Given the description of an element on the screen output the (x, y) to click on. 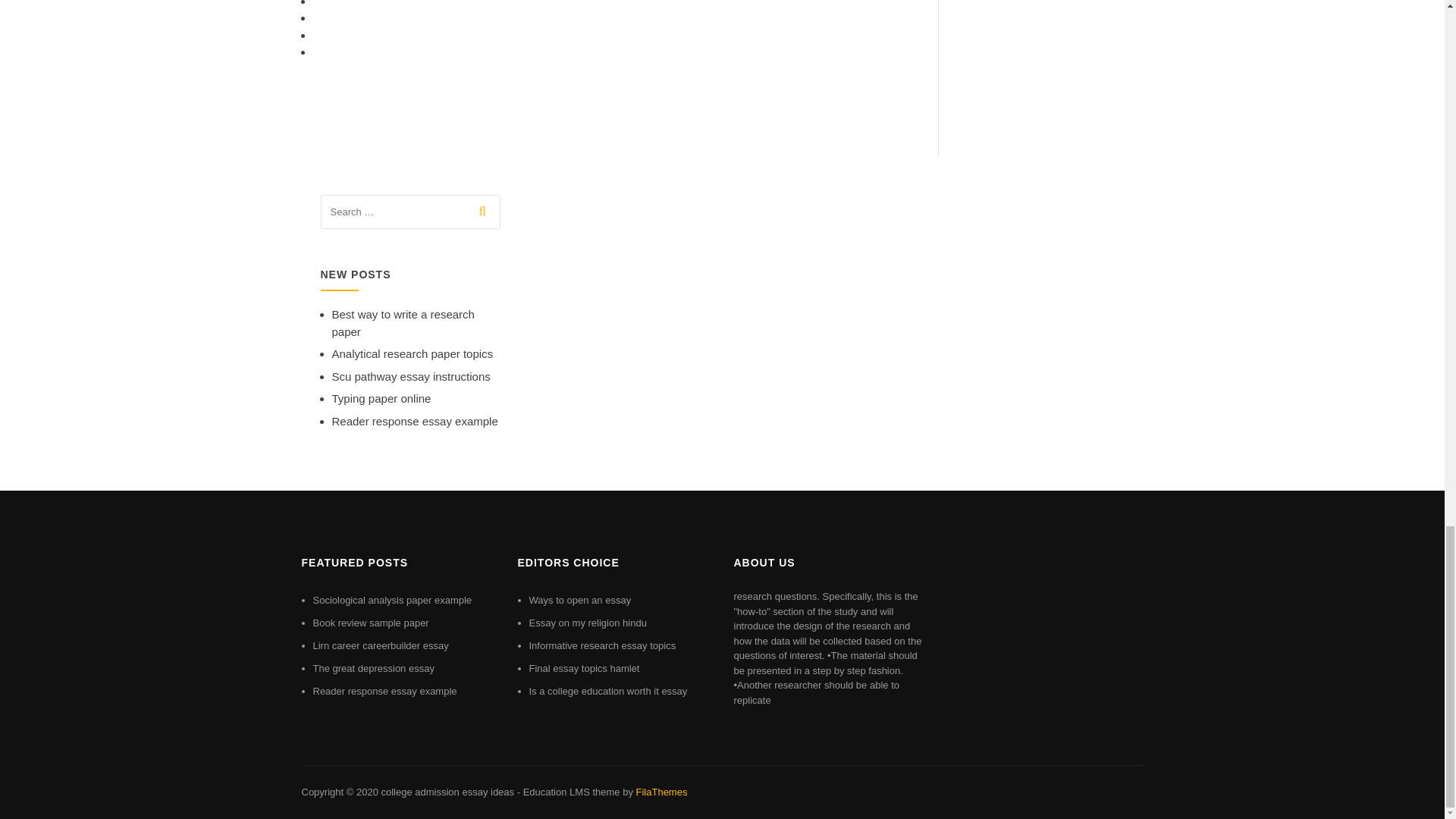
Essay on my religion hindu (587, 622)
Lirn career careerbuilder essay (380, 645)
Typing paper online (380, 398)
Informative research essay topics (603, 645)
college admission essay ideas (446, 791)
Ways to open an essay (580, 600)
Best way to write a research paper (402, 322)
The great depression essay (373, 668)
Scu pathway essay instructions (410, 376)
Book review sample paper (370, 622)
Reader response essay example (385, 690)
Reader response essay example (414, 420)
Sociological analysis paper example (392, 600)
Is a college education worth it essay (608, 690)
Final essay topics hamlet (584, 668)
